Given the description of an element on the screen output the (x, y) to click on. 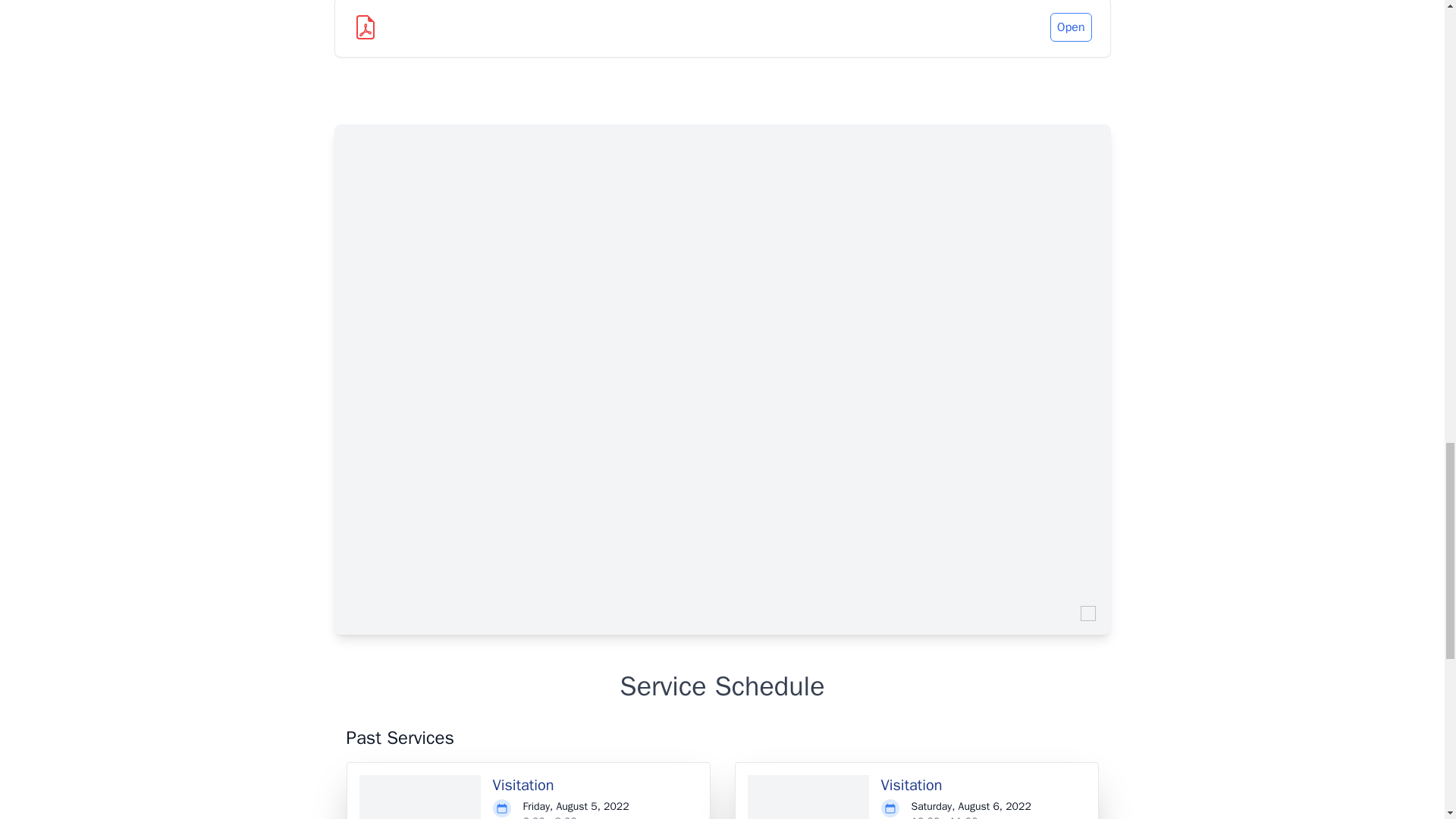
Open (1069, 27)
